Given the description of an element on the screen output the (x, y) to click on. 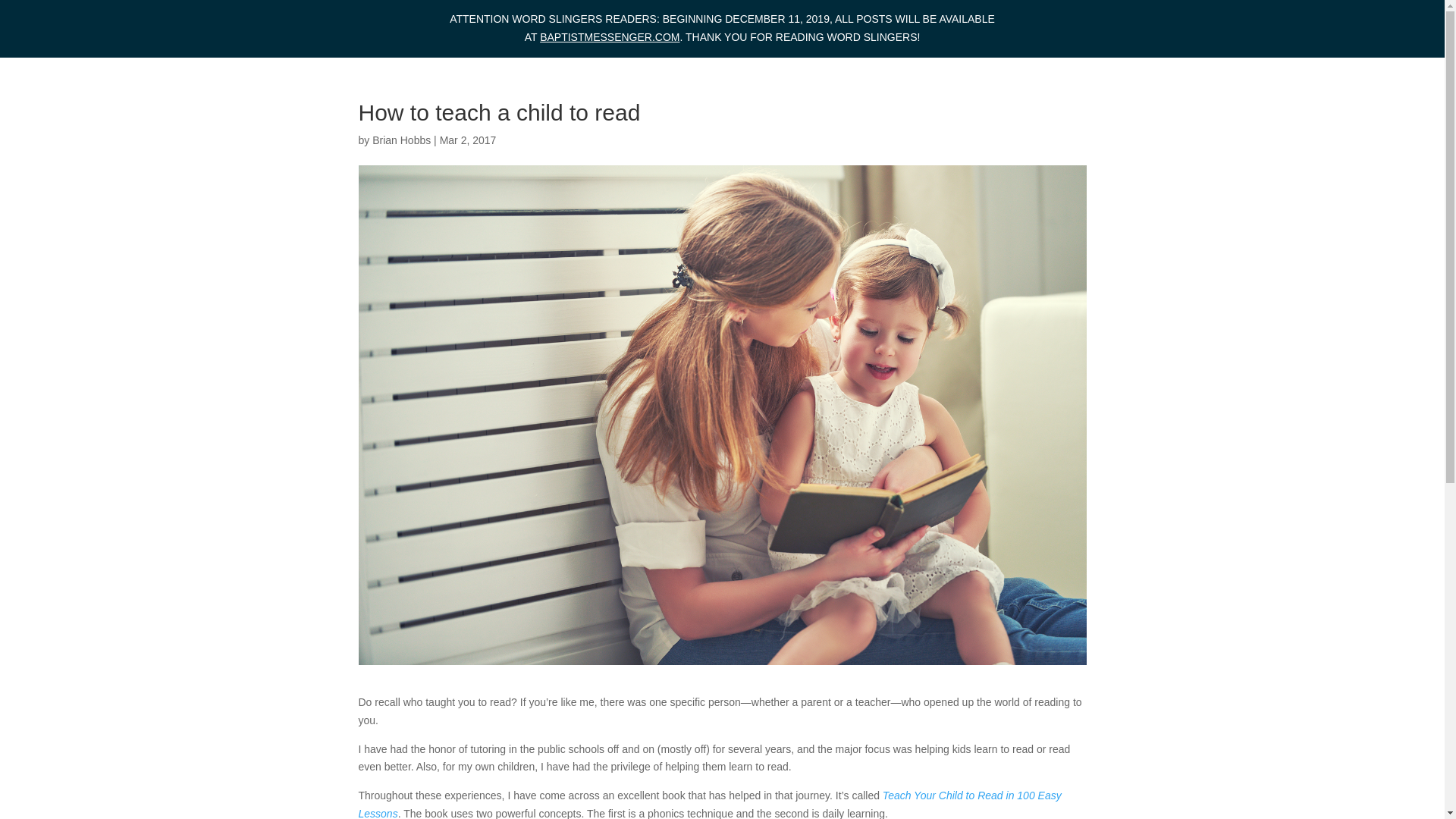
Posts by Brian Hobbs (401, 140)
BAPTISTMESSENGER.COM (609, 37)
Brian Hobbs (401, 140)
Teach Your Child to Read in 100 Easy Lessons (709, 804)
